Given the description of an element on the screen output the (x, y) to click on. 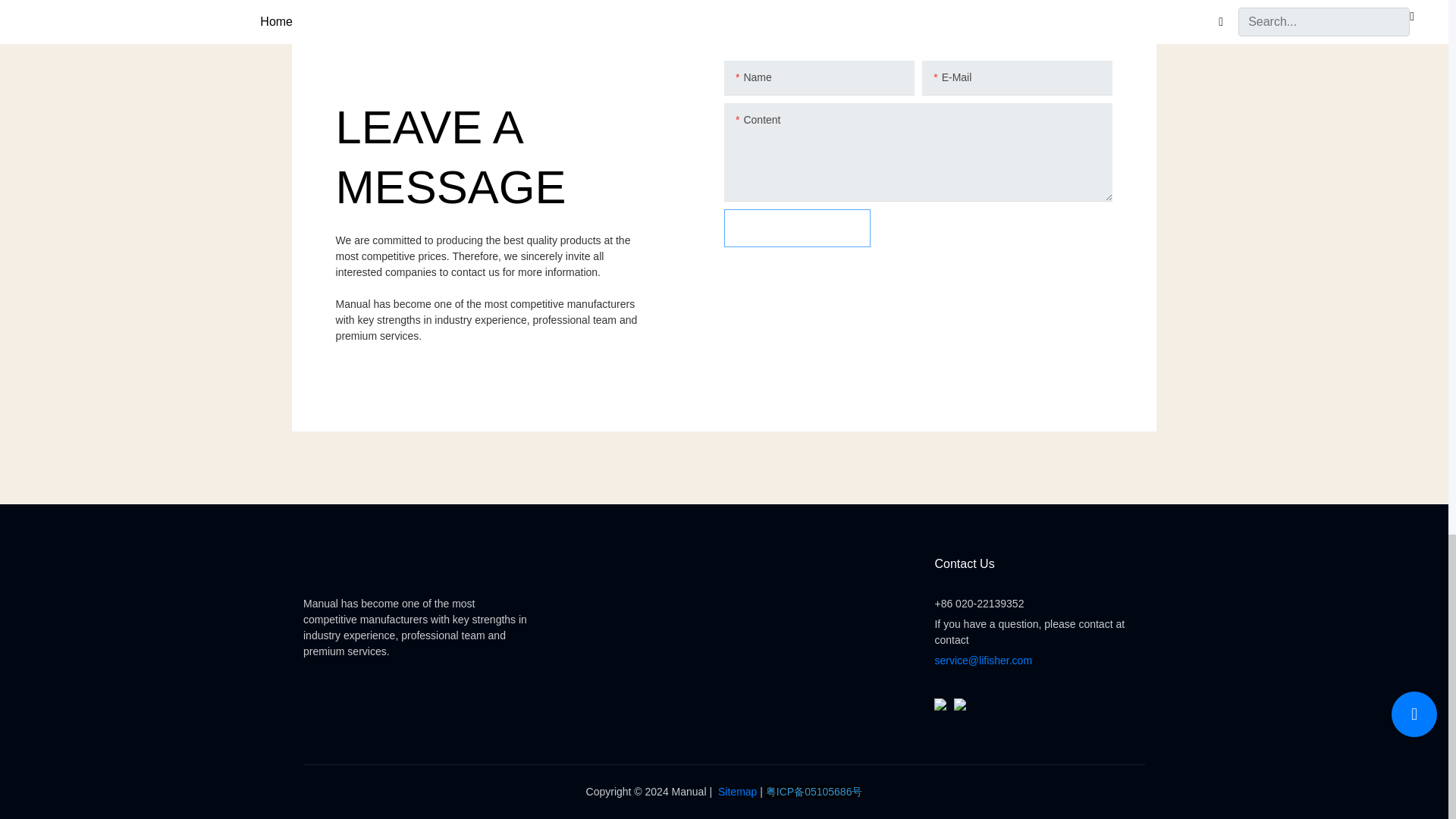
Sitemap (734, 791)
Send Inquiry Now (796, 228)
